Given the description of an element on the screen output the (x, y) to click on. 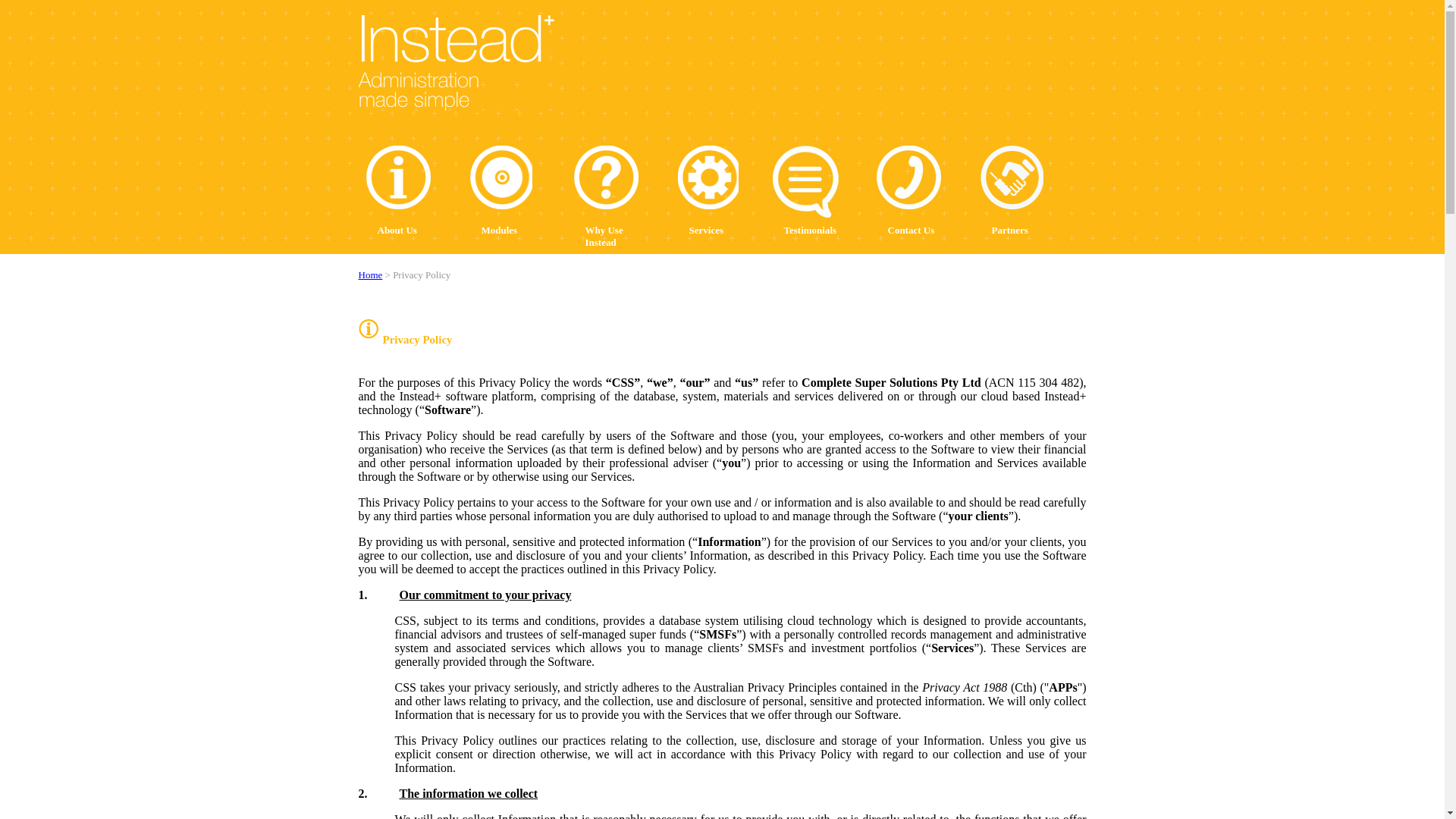
Services Element type: text (704, 190)
About Us Element type: text (394, 190)
Contact Us Element type: text (909, 190)
Modules Element type: text (497, 190)
Why Use Instead Element type: text (617, 190)
Privacy Policy Element type: text (421, 274)
Partners Element type: text (1007, 190)
Testimonials Element type: text (807, 190)
Home Element type: text (369, 274)
